Given the description of an element on the screen output the (x, y) to click on. 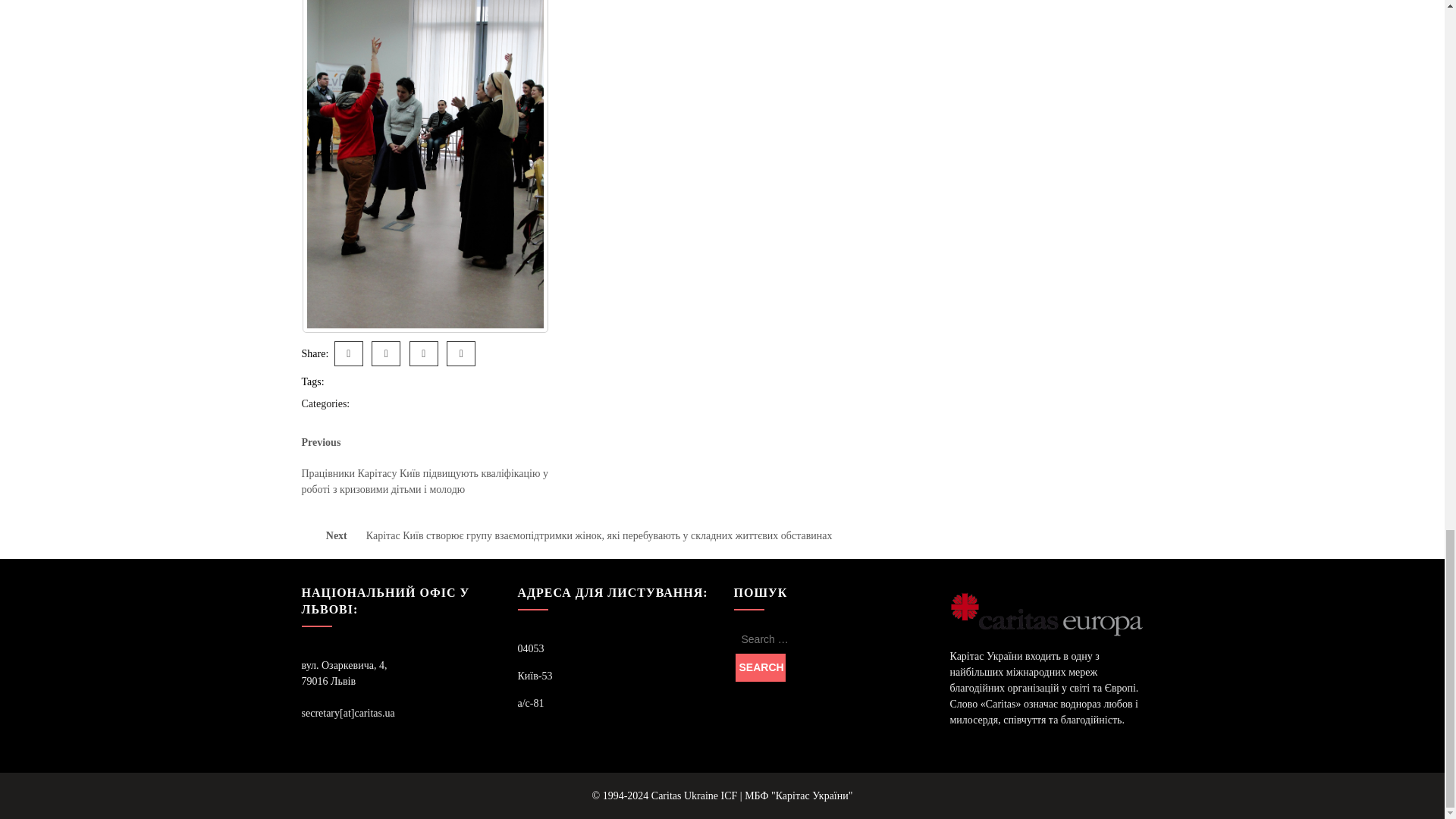
Search (760, 667)
Search (760, 667)
